Given the description of an element on the screen output the (x, y) to click on. 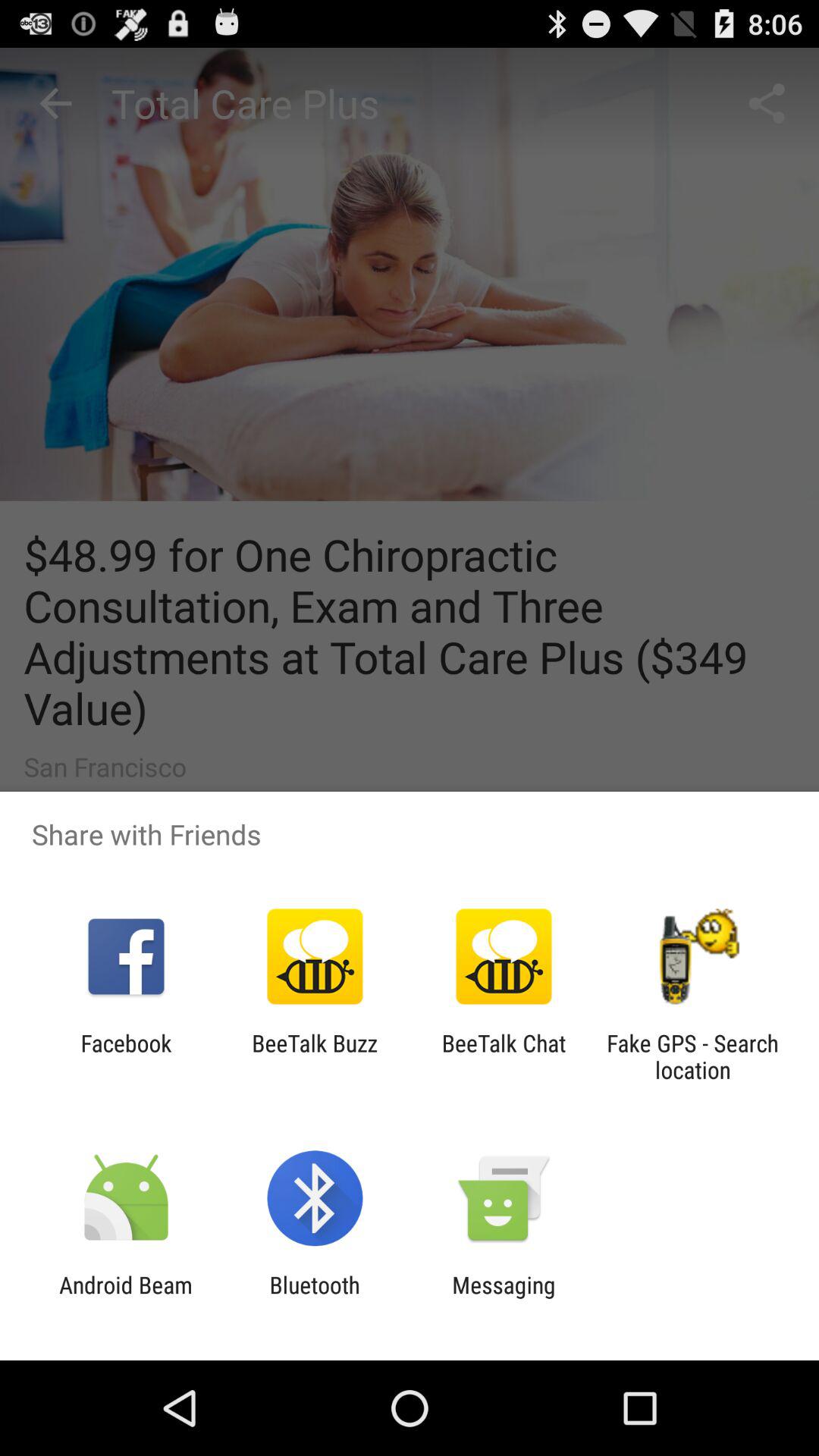
turn off item to the right of the beetalk chat item (692, 1056)
